Given the description of an element on the screen output the (x, y) to click on. 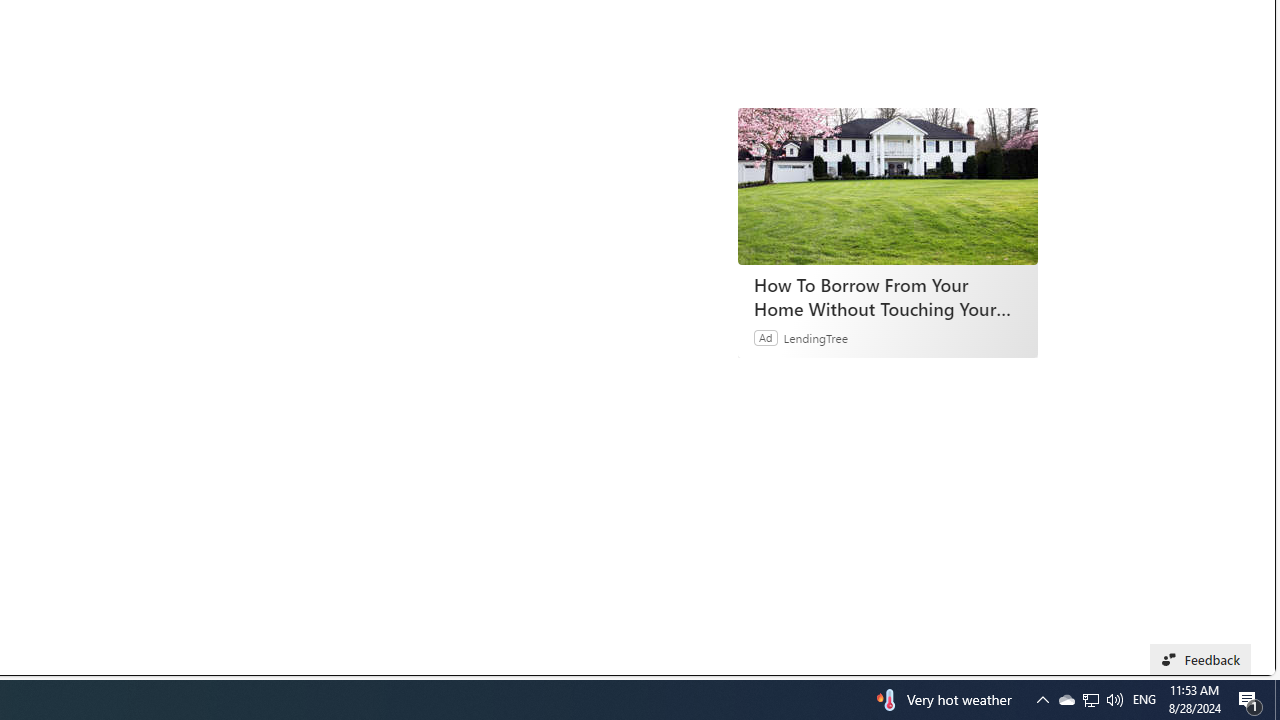
How To Borrow From Your Home Without Touching Your Mortgage (887, 296)
How To Borrow From Your Home Without Touching Your Mortgage (888, 186)
LendingTree (815, 337)
